Given the description of an element on the screen output the (x, y) to click on. 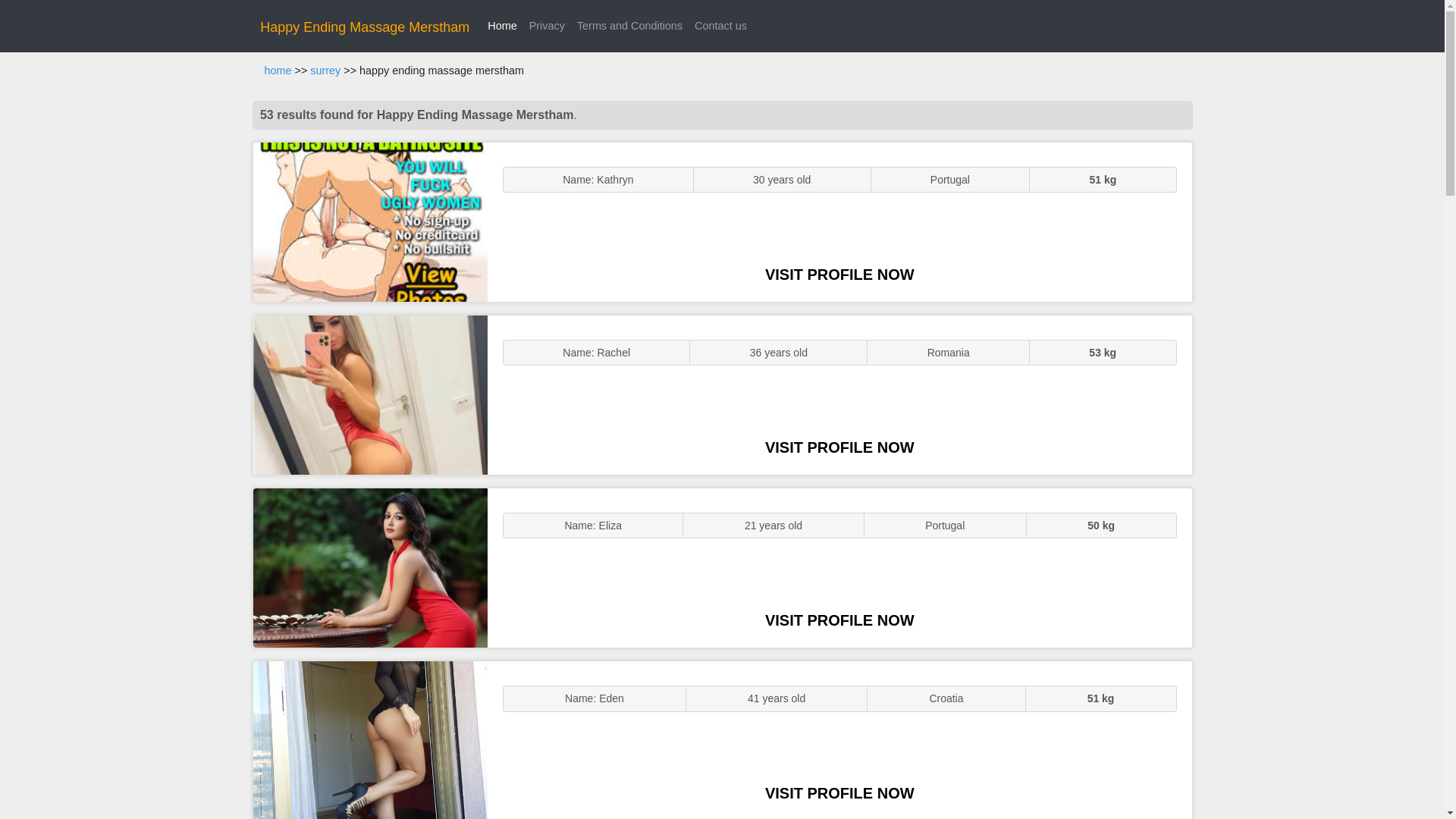
Sexy (370, 567)
GFE (370, 395)
Terms and Conditions (629, 25)
Contact us (720, 25)
Privacy (546, 25)
VISIT PROFILE NOW (839, 446)
home (277, 70)
Happy Ending Massage Merstham (364, 27)
VISIT PROFILE NOW (839, 274)
VISIT PROFILE NOW (839, 792)
 ENGLISH STUNNER (370, 222)
surrey (325, 70)
VISIT PROFILE NOW (839, 619)
Sluts (370, 739)
